Given the description of an element on the screen output the (x, y) to click on. 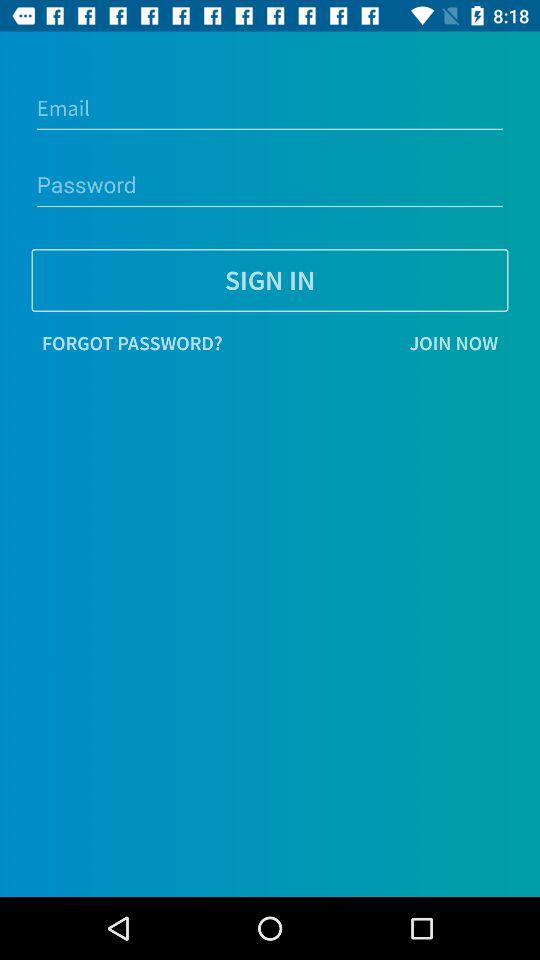
swipe to the forgot password? (132, 343)
